Given the description of an element on the screen output the (x, y) to click on. 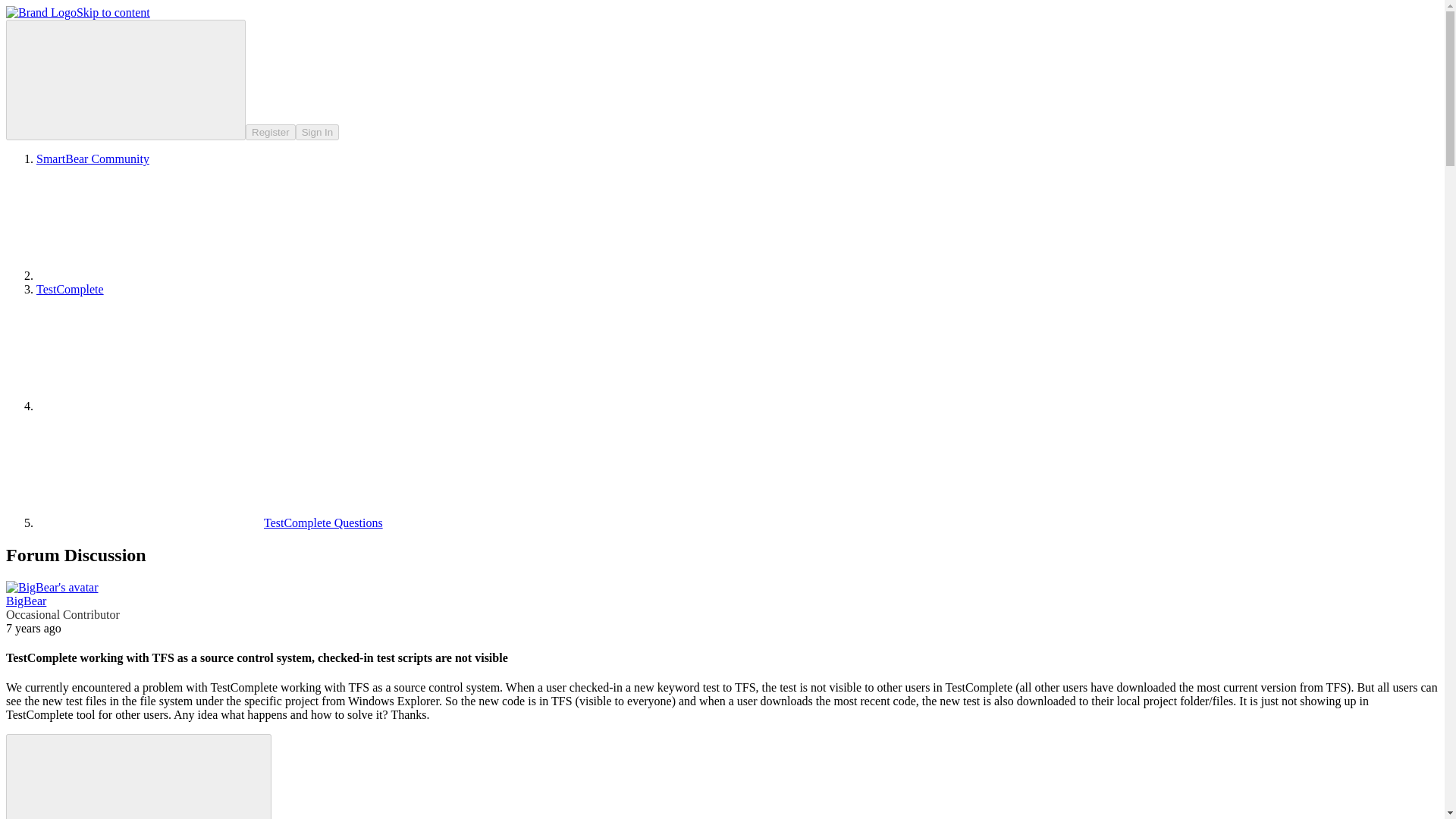
ReplyReply (137, 776)
February 6, 2018 at 7:34 PM (33, 627)
Skip to content (113, 11)
TestComplete (69, 288)
SmartBear Community (92, 158)
BigBear (25, 600)
Register (270, 132)
TestComplete Questions (209, 522)
Search (125, 79)
Sign In (317, 132)
Reply (125, 777)
